Given the description of an element on the screen output the (x, y) to click on. 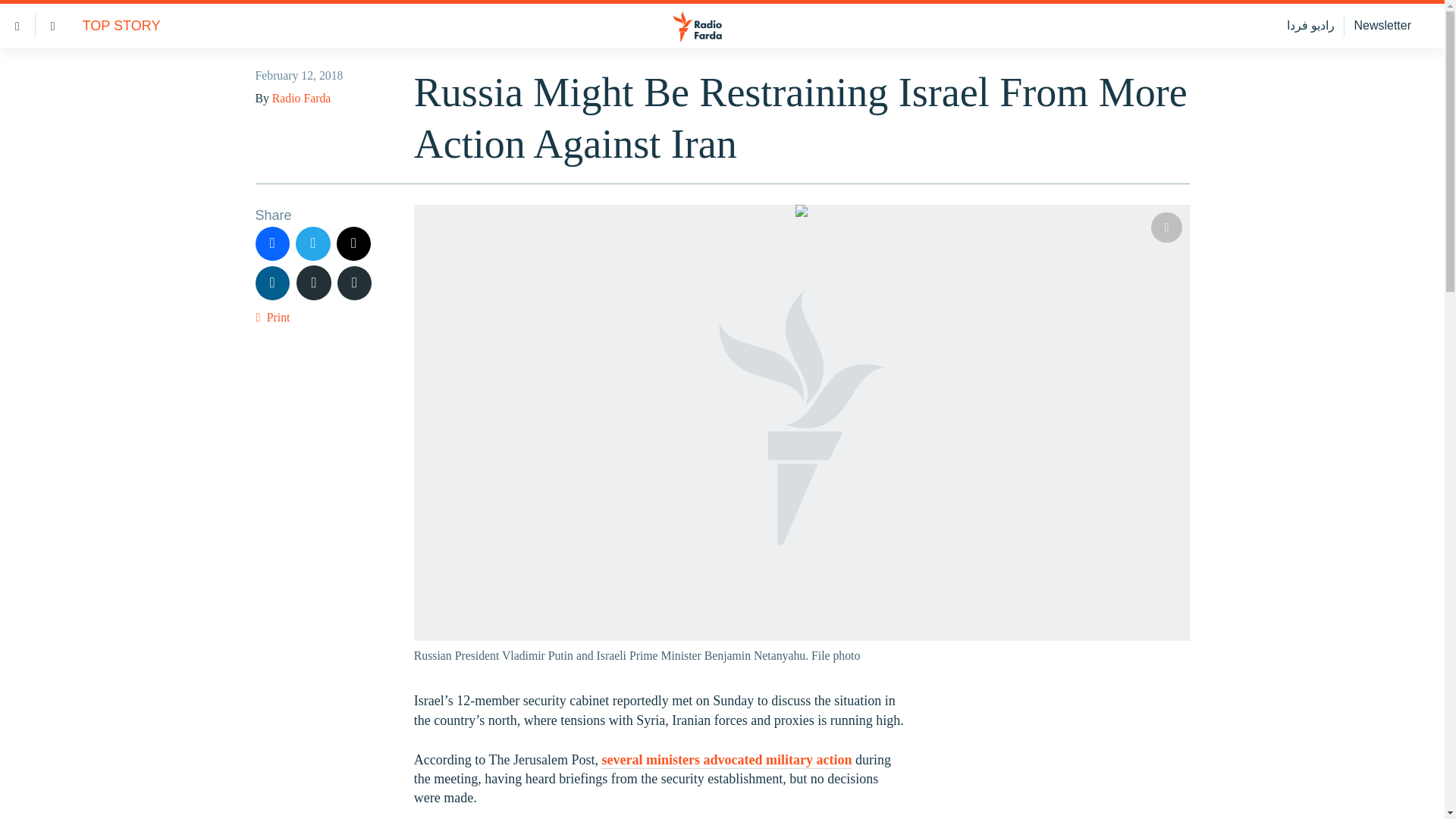
TOP STORY (121, 26)
Newsletter (1382, 25)
Newsletter (1382, 25)
Radio Farda (301, 97)
